Given the description of an element on the screen output the (x, y) to click on. 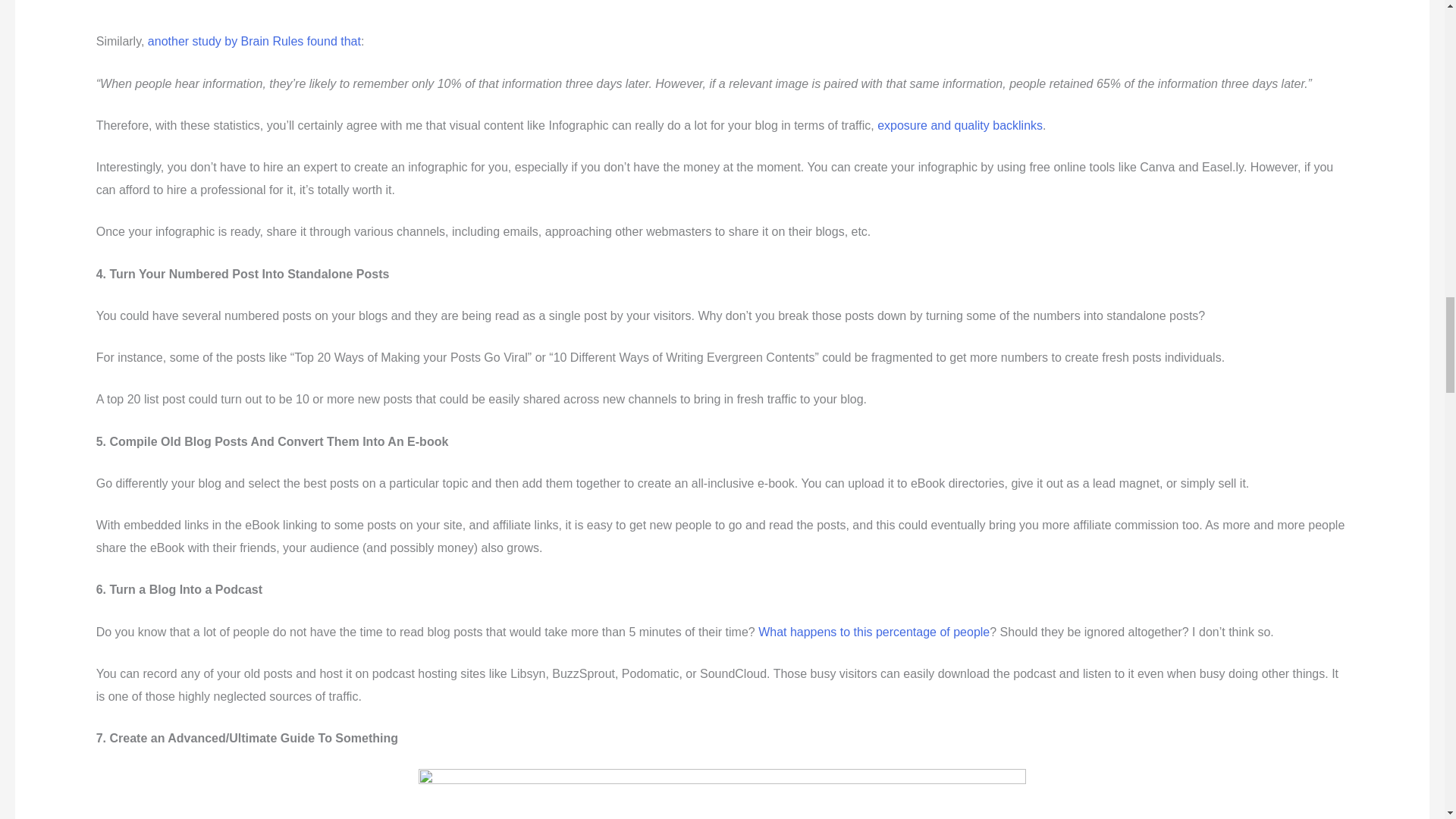
What happens to this percentage of people (874, 631)
exposure and quality backlinks (959, 124)
another study by Brain Rules found that (252, 41)
